Given the description of an element on the screen output the (x, y) to click on. 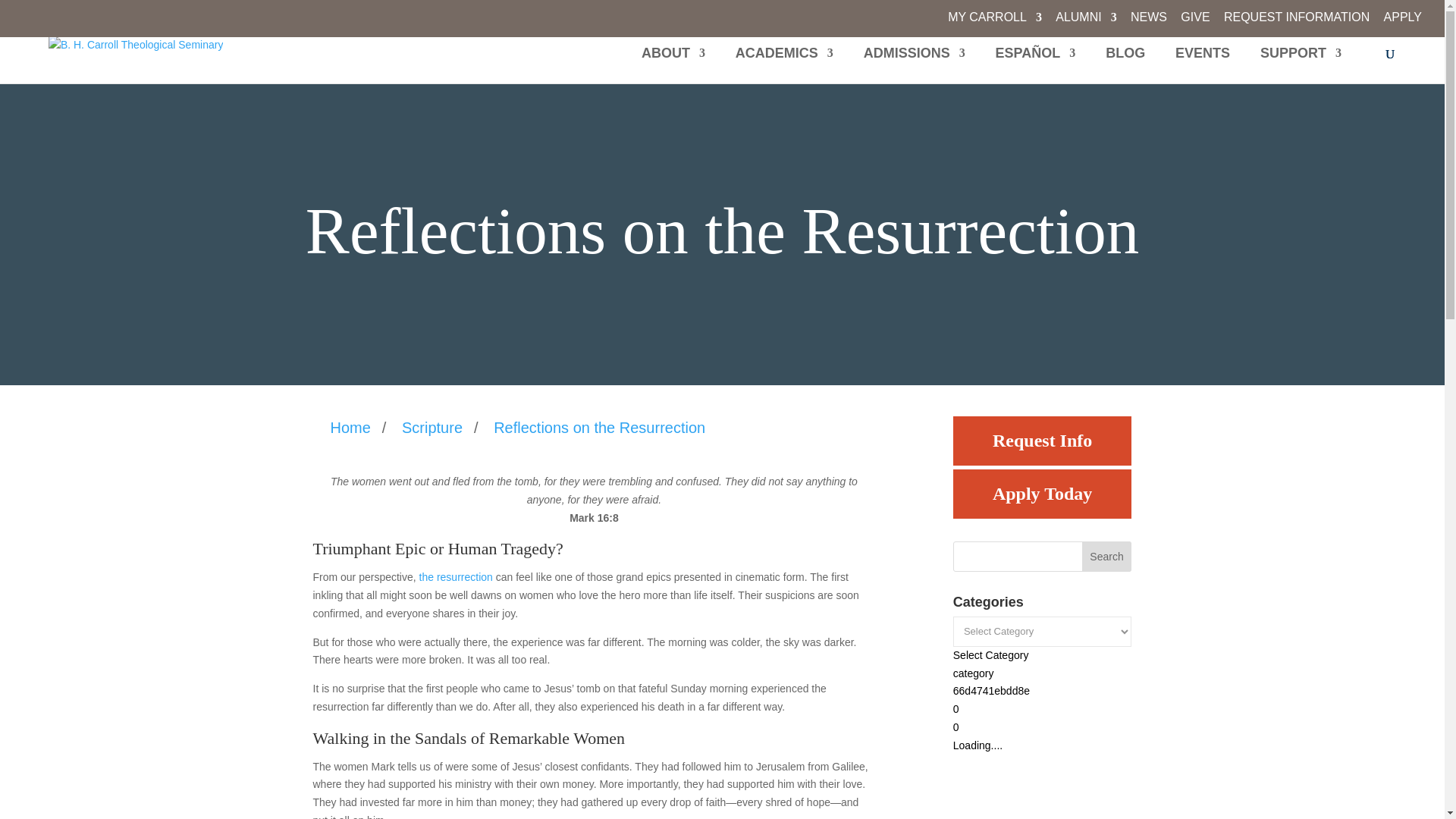
Home (354, 427)
Reflections on the Resurrection (599, 427)
ADMISSIONS (914, 65)
APPLY (1403, 22)
ACADEMICS (783, 65)
NEWS (1149, 22)
ALUMNI (1085, 22)
Scripture (432, 427)
REQUEST INFORMATION (1297, 22)
Search (1106, 556)
